Given the description of an element on the screen output the (x, y) to click on. 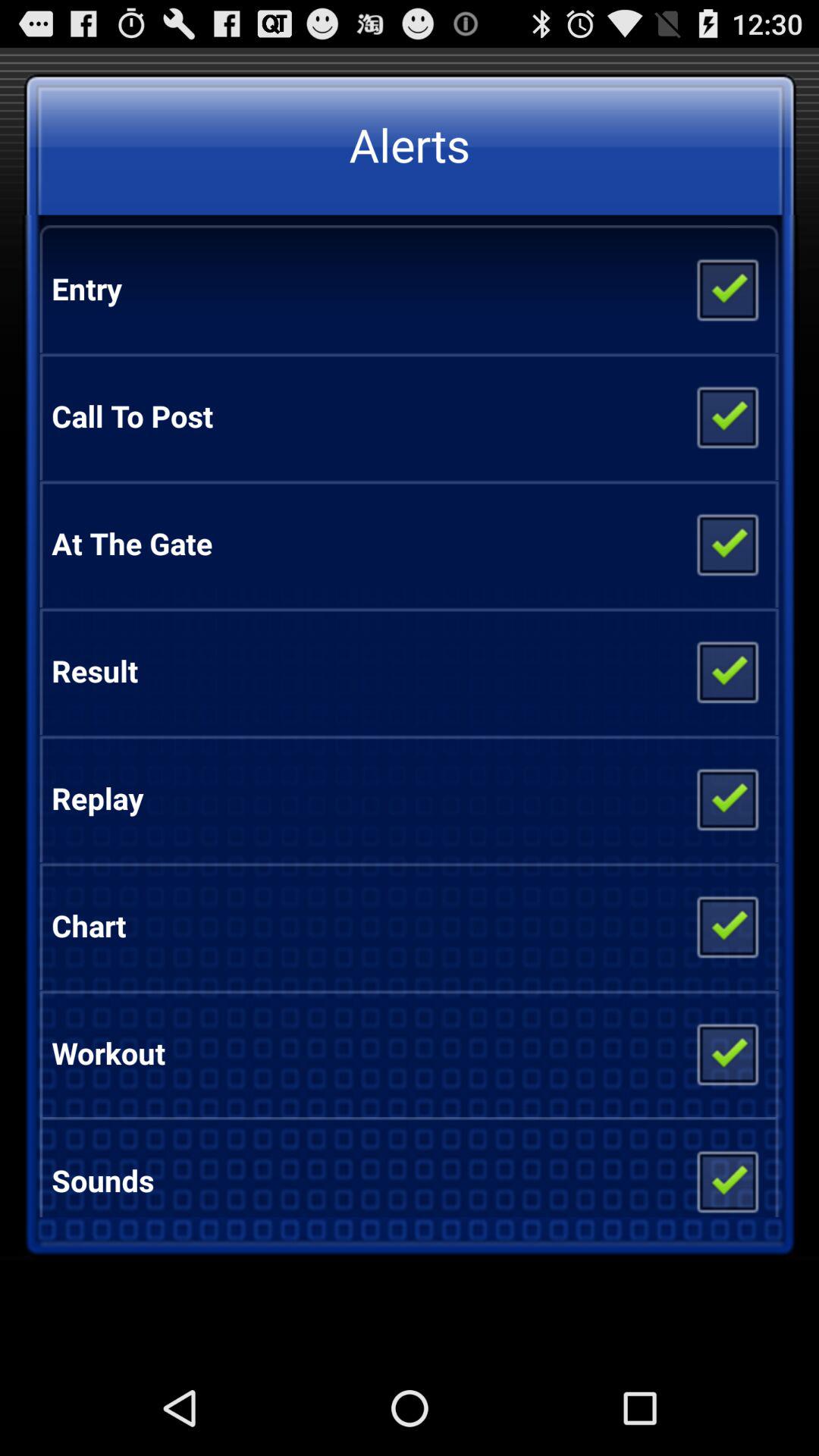
click option (726, 1053)
